Given the description of an element on the screen output the (x, y) to click on. 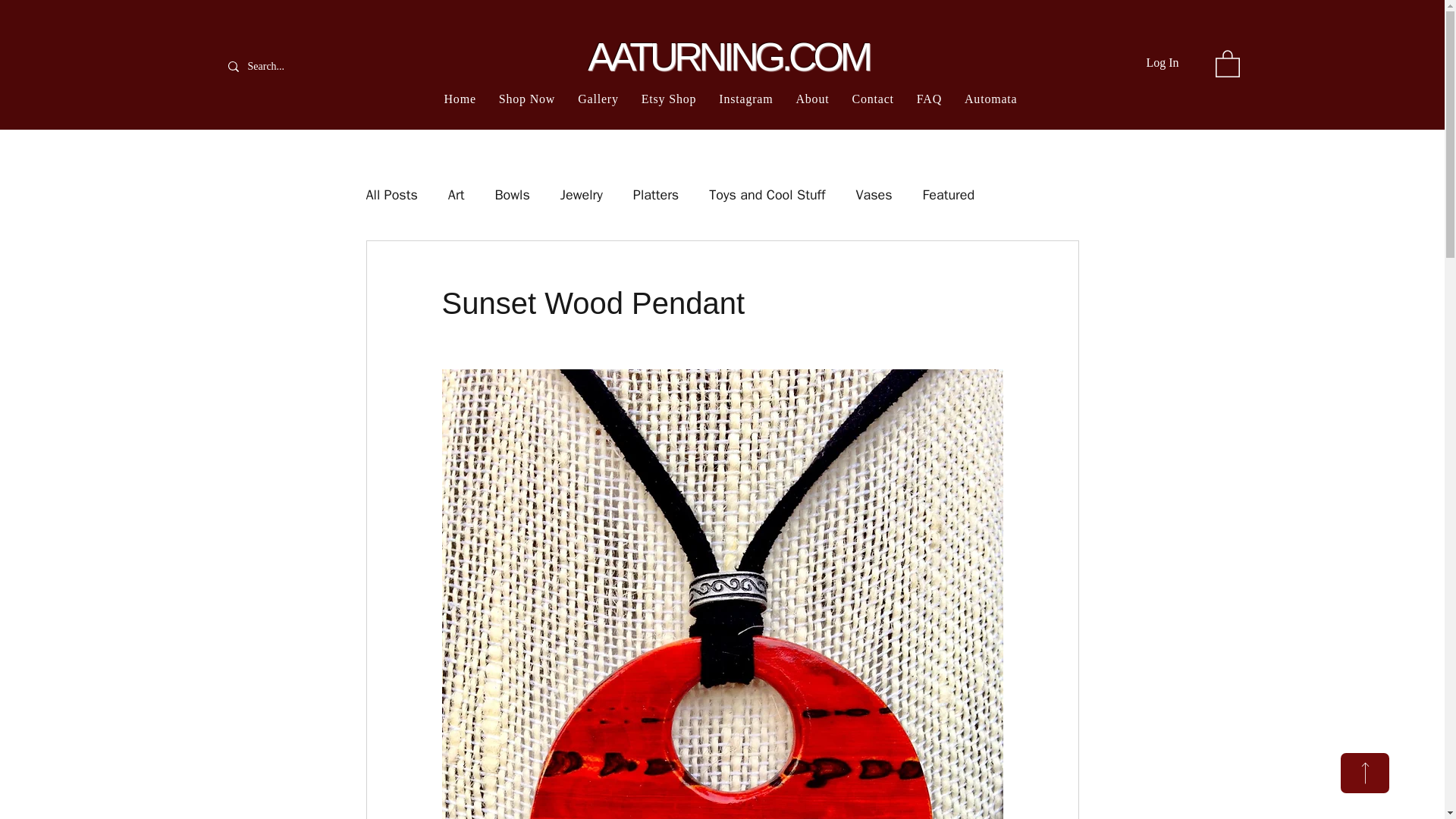
All Posts (390, 194)
Art (456, 194)
Etsy Shop (668, 99)
Gallery (598, 99)
Vases (873, 194)
FAQ (929, 99)
Log In (1162, 62)
Toys and Cool Stuff (767, 194)
Instagram (745, 99)
Home (459, 99)
Jewelry (581, 194)
Platters (655, 194)
Bowls (512, 194)
Automata (990, 99)
Shop Now (526, 99)
